Given the description of an element on the screen output the (x, y) to click on. 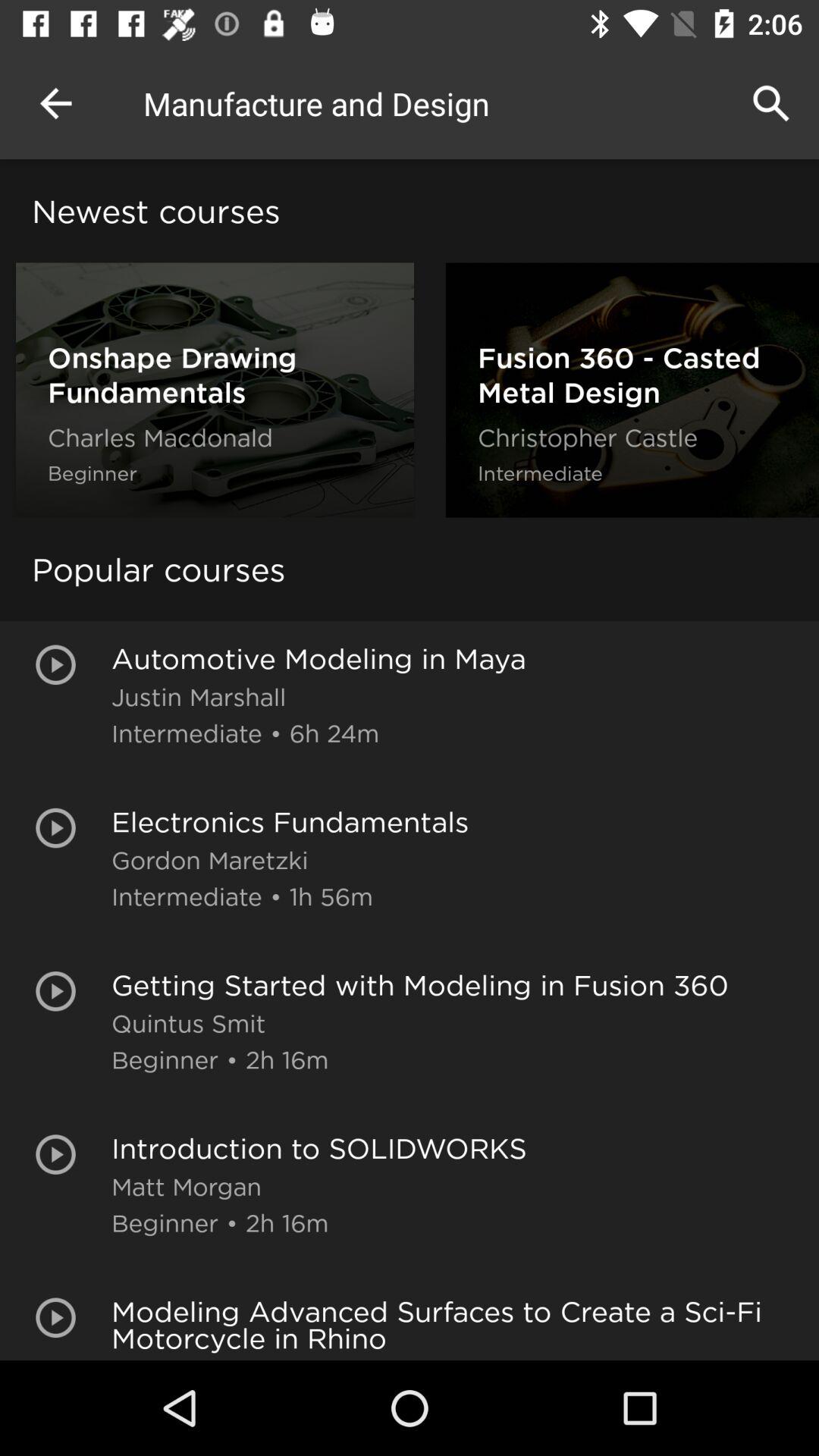
open the icon to the left of manufacture and design app (55, 103)
